Given the description of an element on the screen output the (x, y) to click on. 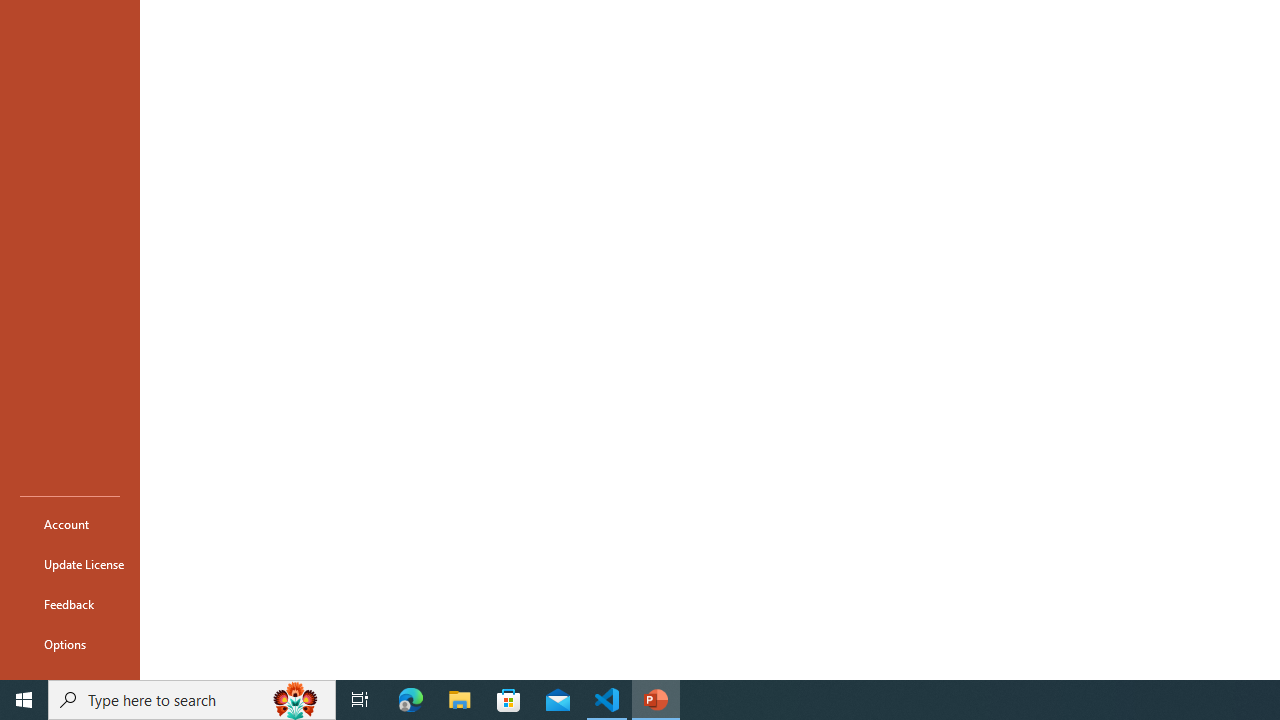
Account (69, 523)
Feedback (69, 603)
Options (69, 643)
Update License (69, 563)
